Given the description of an element on the screen output the (x, y) to click on. 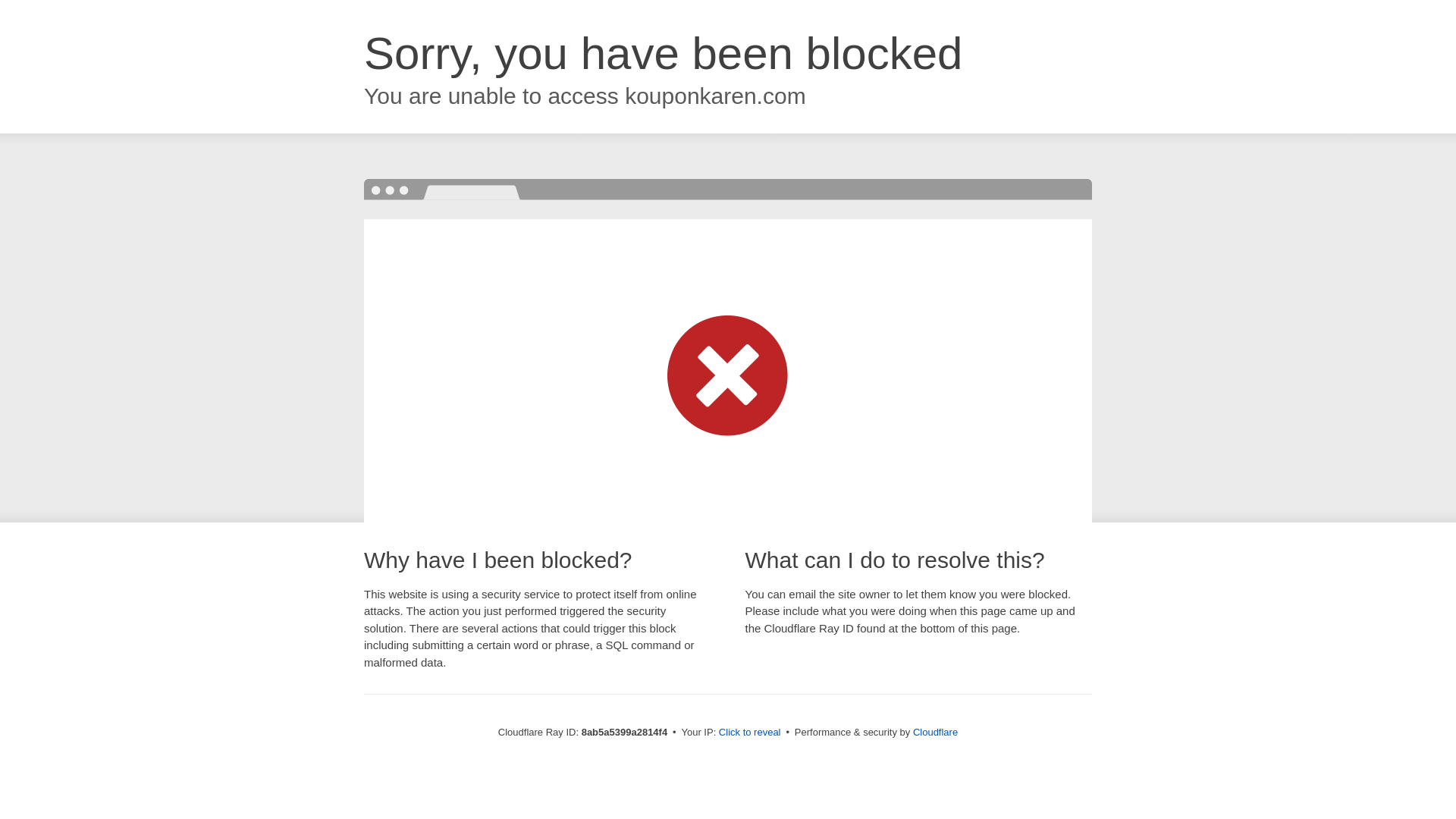
Cloudflare (935, 731)
Click to reveal (749, 732)
